Given the description of an element on the screen output the (x, y) to click on. 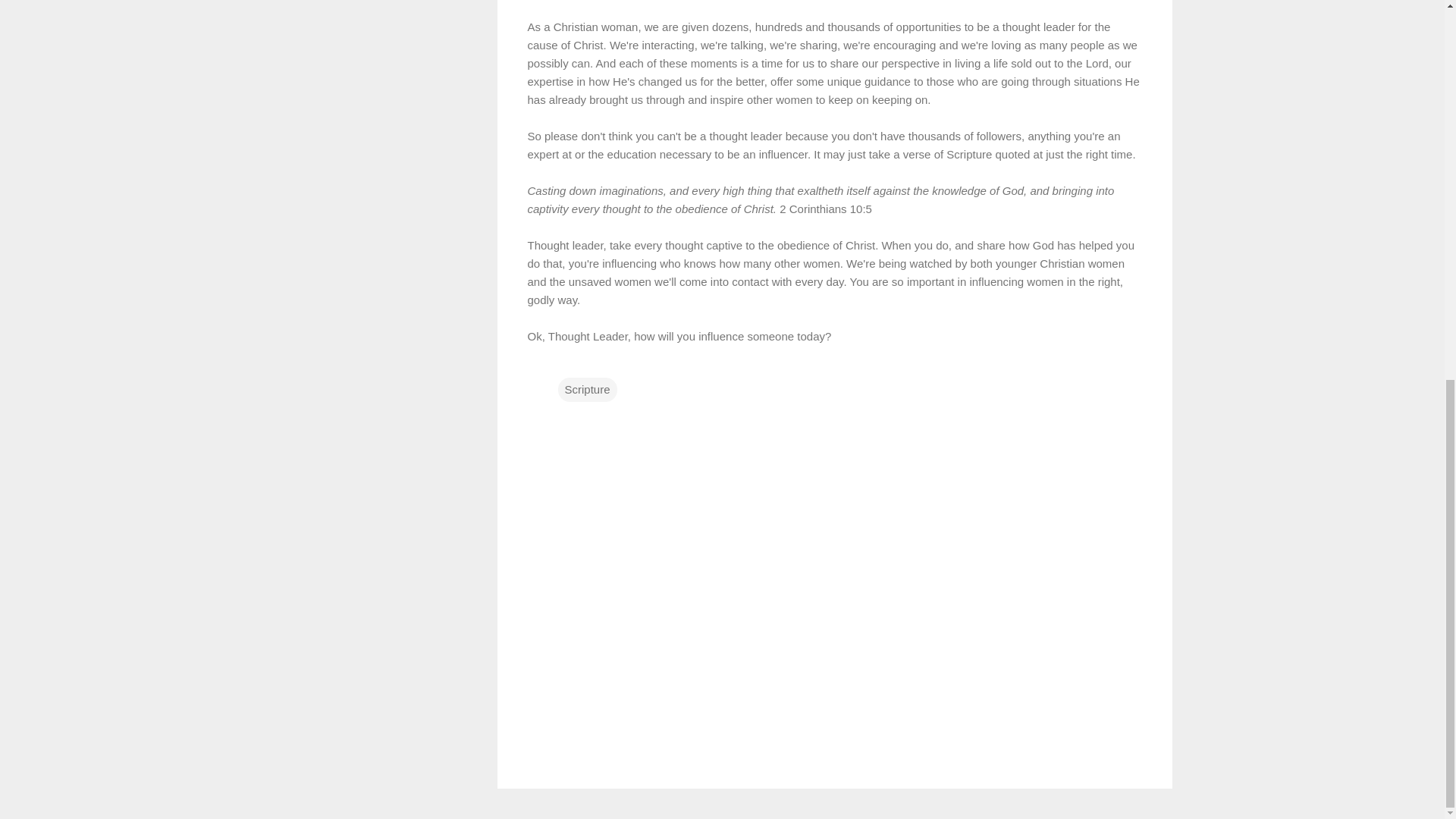
Scripture (587, 389)
